Given the description of an element on the screen output the (x, y) to click on. 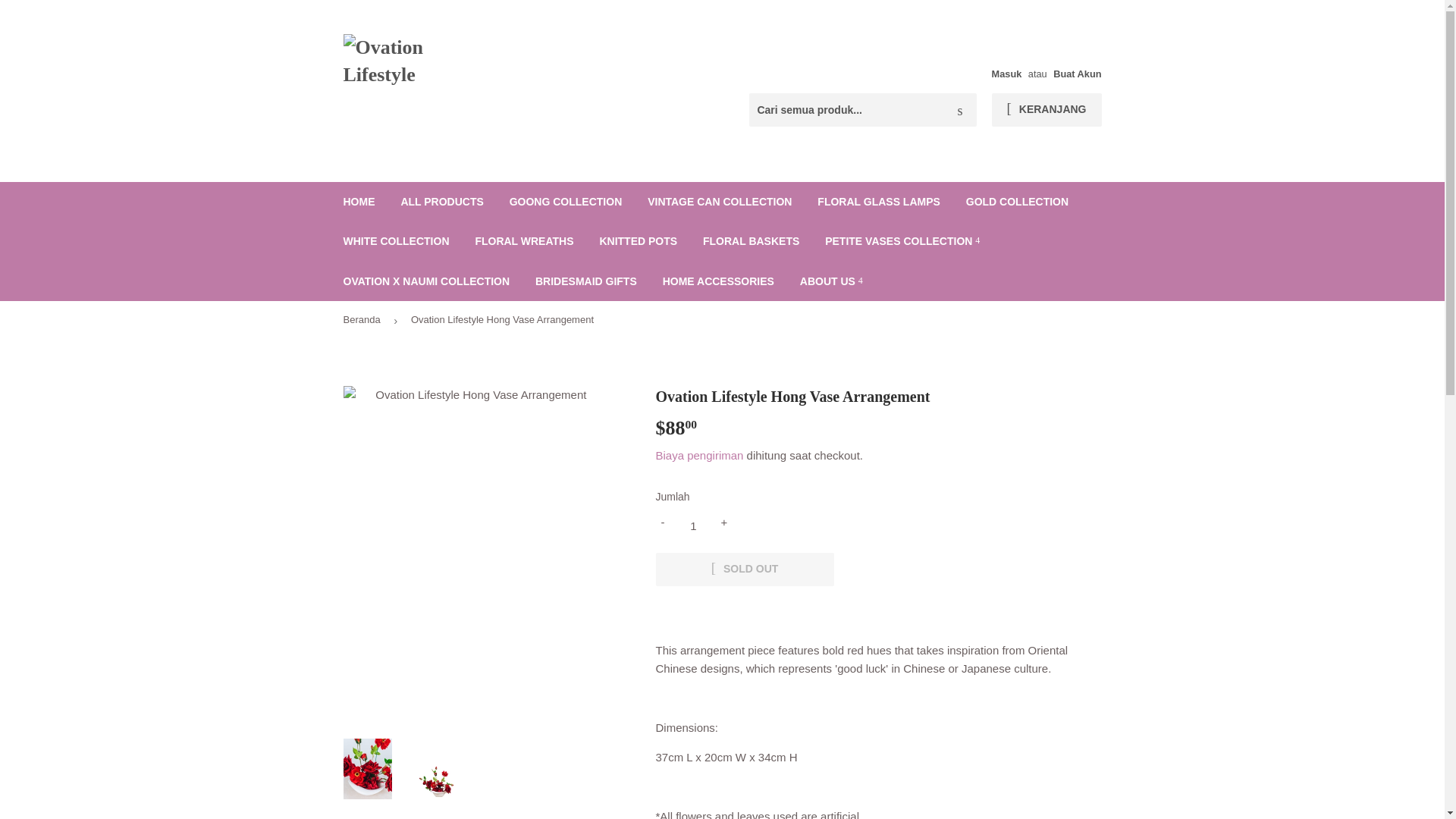
ALL PRODUCTS (441, 201)
KERANJANG (1046, 109)
GOONG COLLECTION (565, 201)
VINTAGE CAN COLLECTION (719, 201)
FLORAL GLASS LAMPS (879, 201)
GOLD COLLECTION (1017, 201)
Cari (959, 110)
1 (692, 525)
Buat Akun (1076, 73)
Masuk (1006, 73)
